Given the description of an element on the screen output the (x, y) to click on. 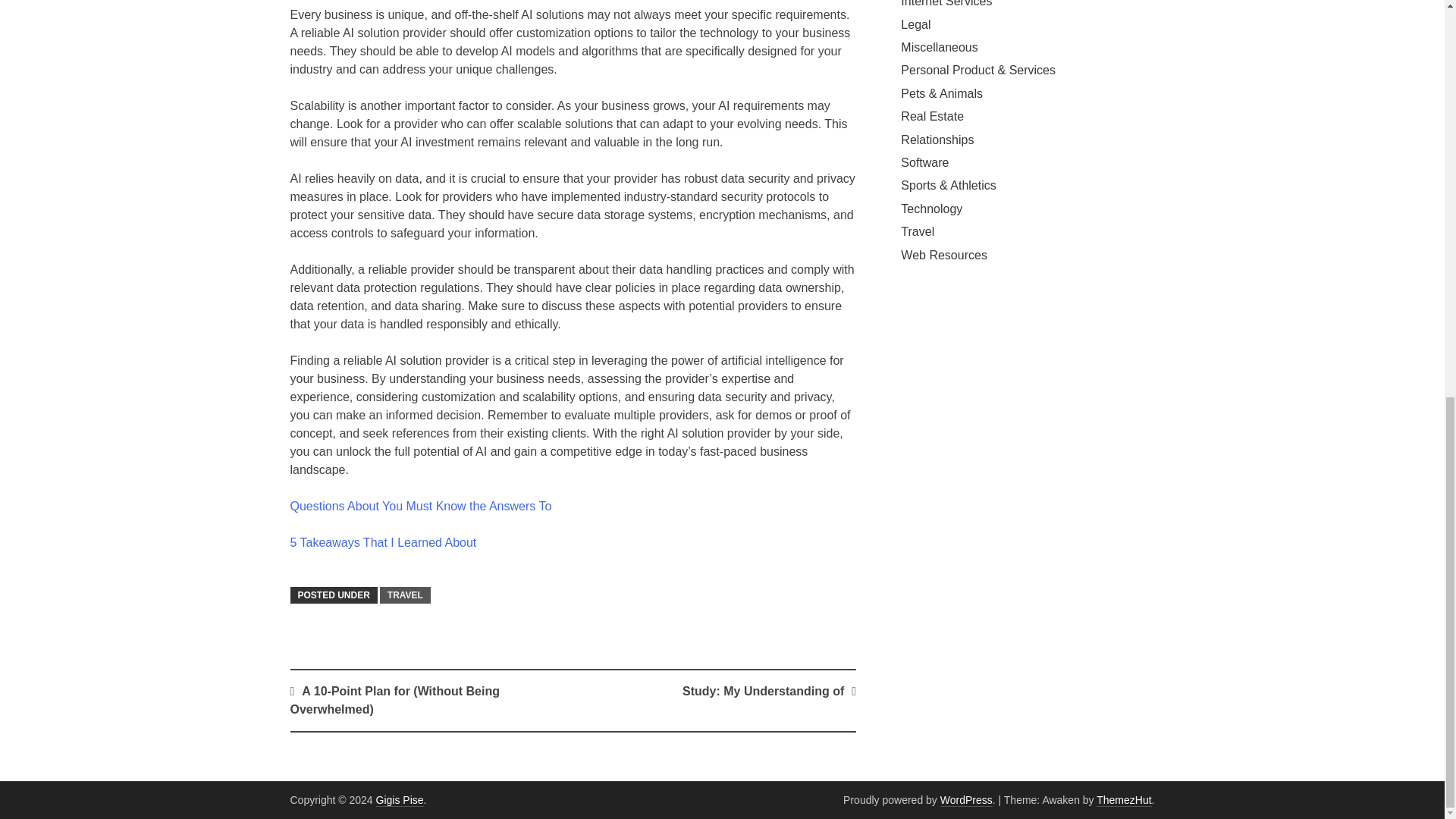
Gigis Pise (399, 799)
Real Estate (932, 115)
5 Takeaways That I Learned About (382, 542)
Questions About You Must Know the Answers To (420, 505)
Internet Services (946, 3)
Study: My Understanding of (763, 690)
WordPress (966, 799)
Legal (915, 24)
Miscellaneous (938, 47)
TRAVEL (405, 595)
Relationships (937, 139)
